Given the description of an element on the screen output the (x, y) to click on. 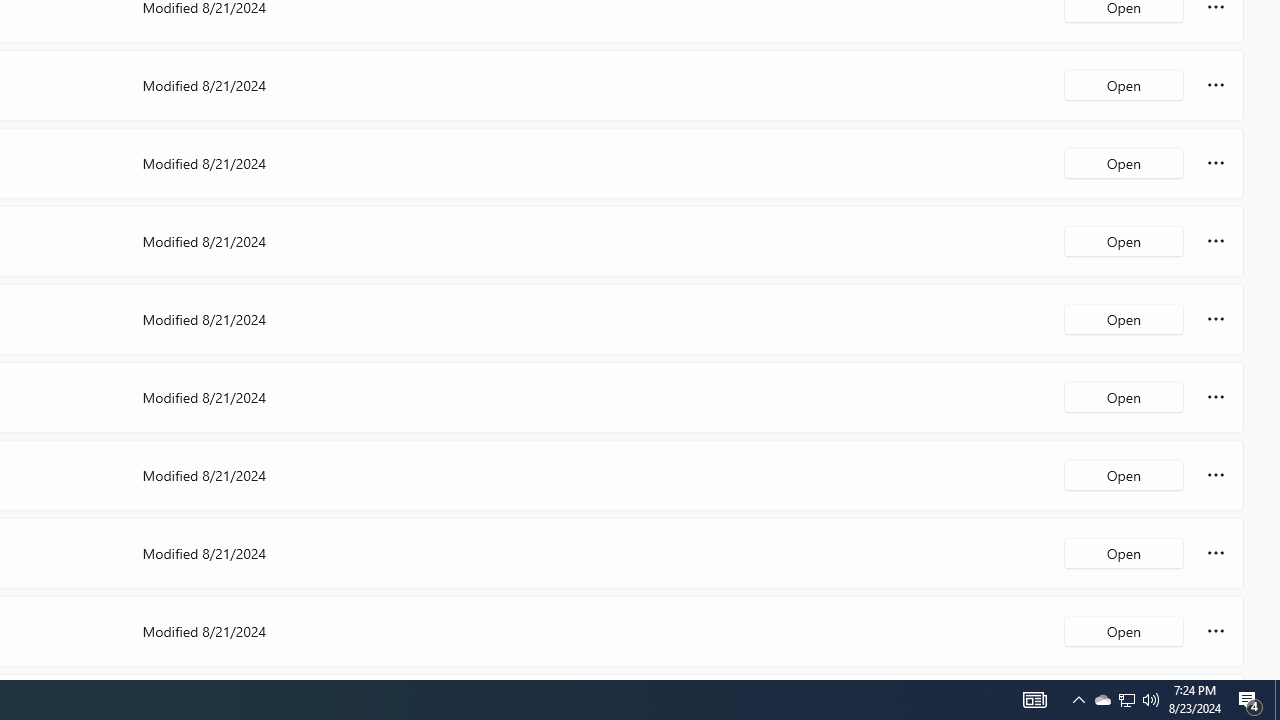
More options (1215, 630)
Open (1123, 630)
